Given the description of an element on the screen output the (x, y) to click on. 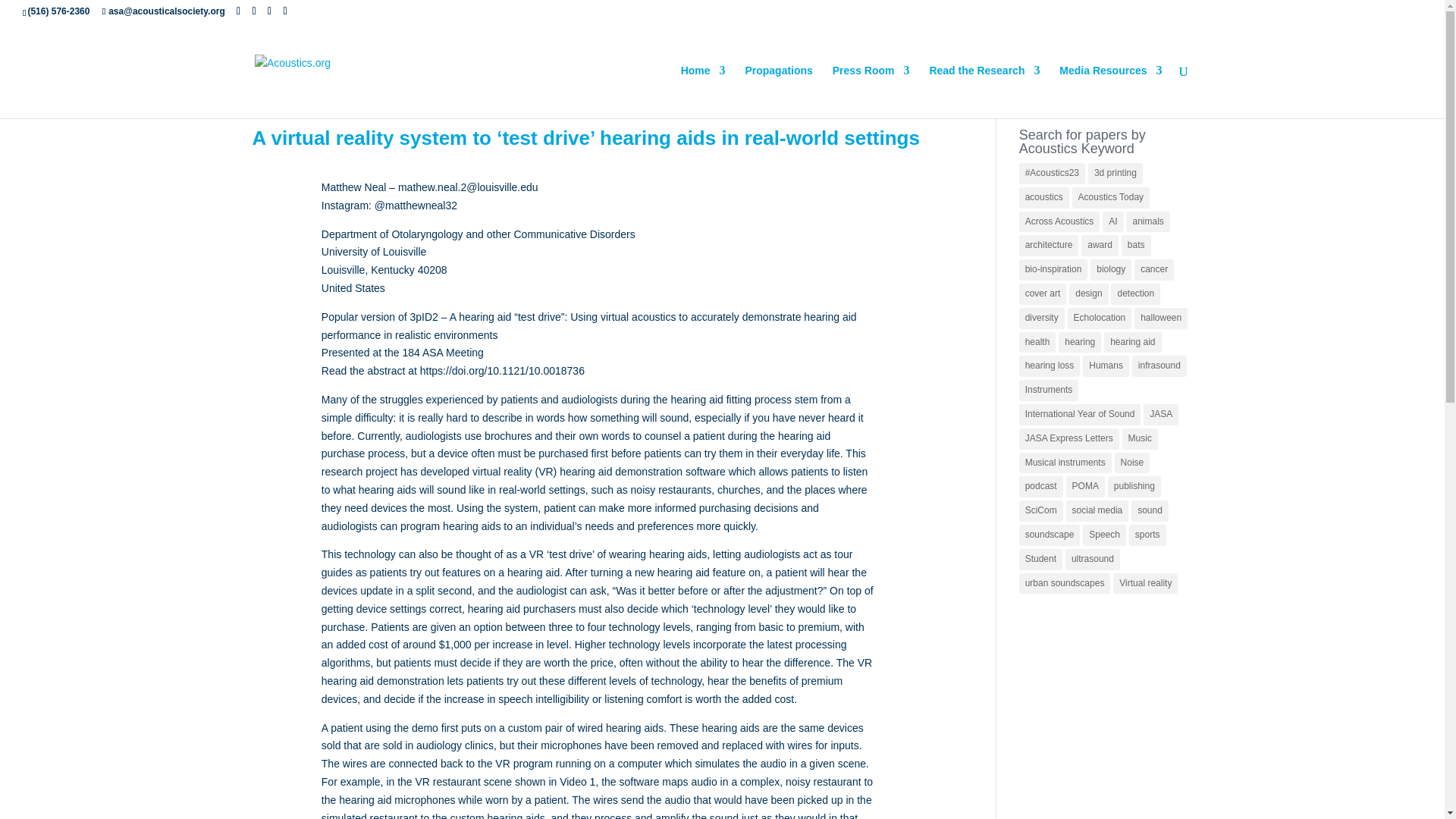
3d printing (1114, 173)
Press Room (871, 91)
AI (1112, 221)
Across Acoustics (1059, 221)
animals (1147, 221)
Read the Research (983, 91)
acoustics (1043, 197)
Propagations (778, 91)
Acoustics Today (1110, 197)
Media Resources (1110, 91)
